Given the description of an element on the screen output the (x, y) to click on. 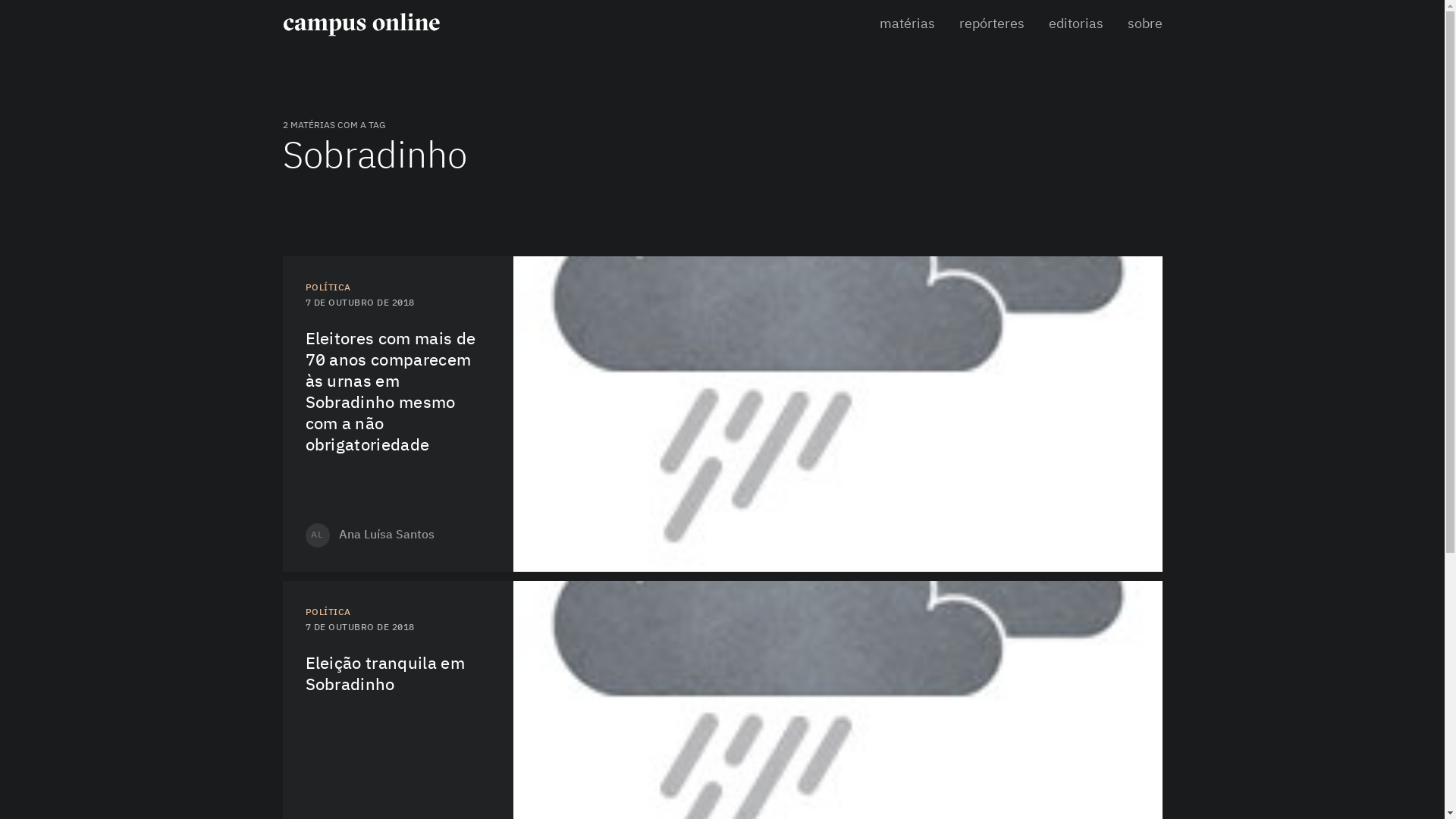
sobre Element type: text (1143, 24)
editorias Element type: text (1074, 24)
